Given the description of an element on the screen output the (x, y) to click on. 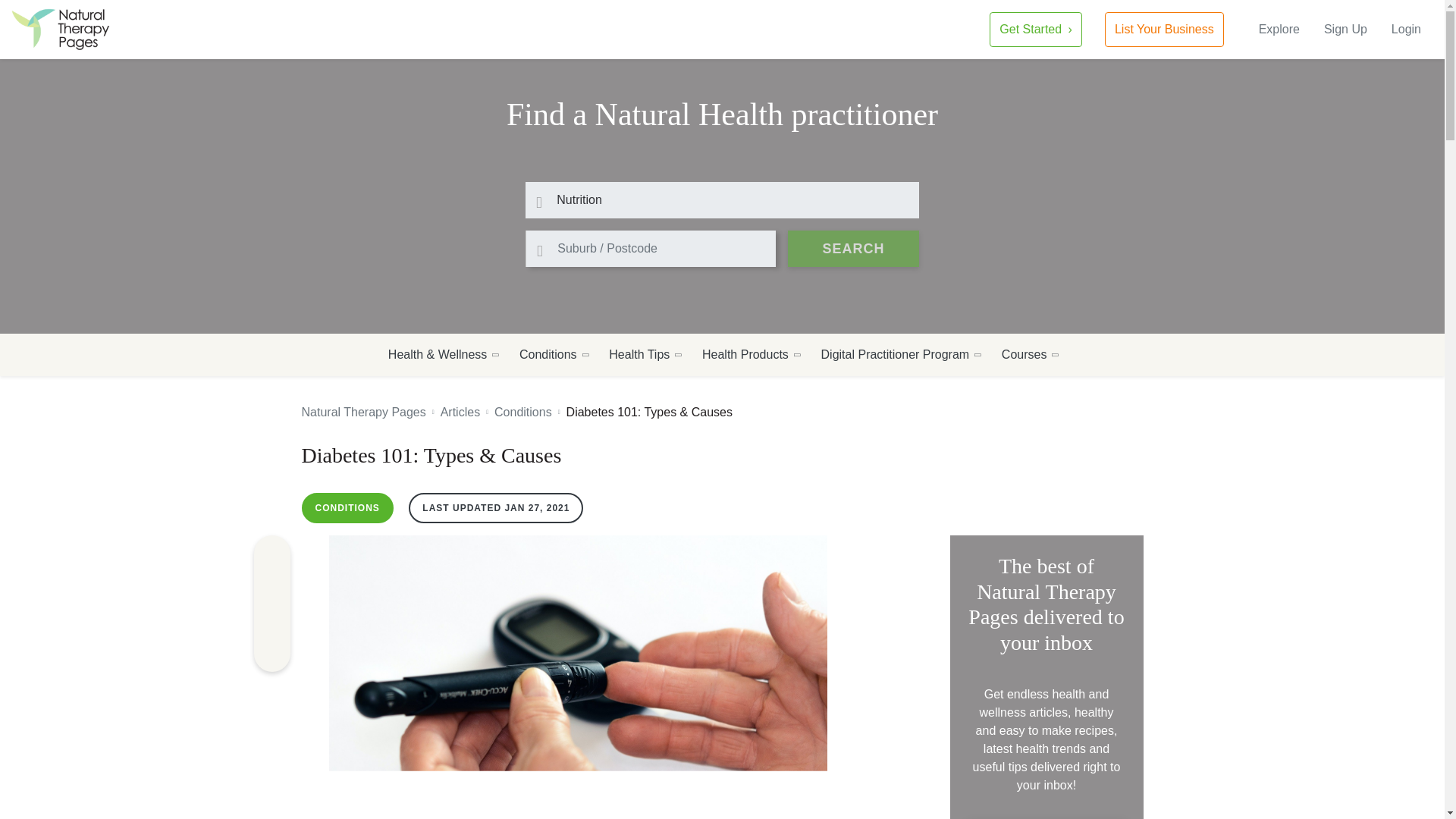
global.social.shareEmail (271, 653)
global.social.shareTwitter (271, 620)
global.social.sharePinterest (271, 586)
Explore (1278, 29)
global.social.shareFacebook (271, 553)
Sign Up (1344, 29)
Nutrition (721, 199)
List Your Business (1164, 28)
Login (1405, 29)
Nutrition (721, 199)
